Given the description of an element on the screen output the (x, y) to click on. 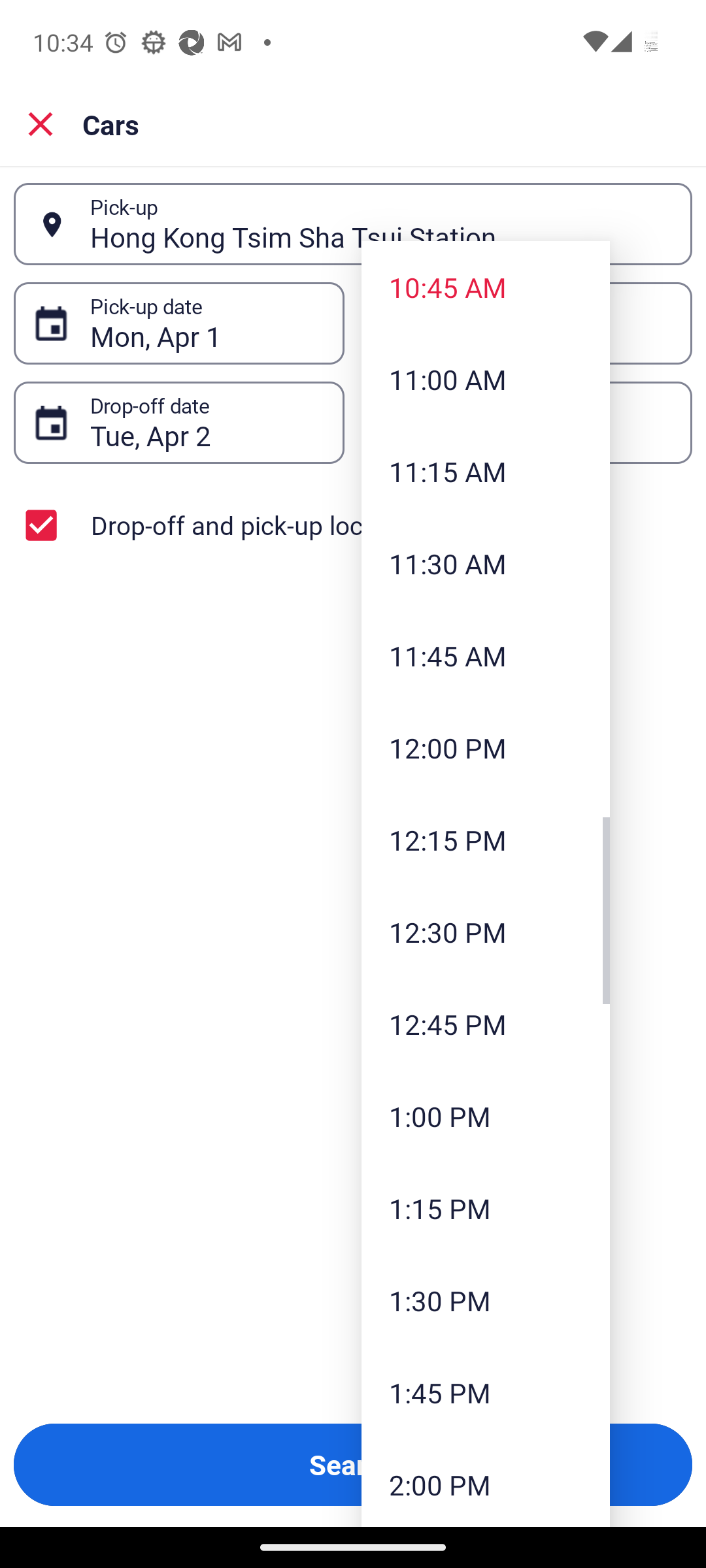
10:45 AM (485, 286)
11:00 AM (485, 378)
11:15 AM (485, 470)
11:30 AM (485, 563)
11:45 AM (485, 655)
12:00 PM (485, 747)
12:15 PM (485, 839)
12:30 PM (485, 931)
12:45 PM (485, 1023)
1:00 PM (485, 1115)
1:15 PM (485, 1207)
1:30 PM (485, 1300)
1:45 PM (485, 1392)
2:00 PM (485, 1483)
